Given the description of an element on the screen output the (x, y) to click on. 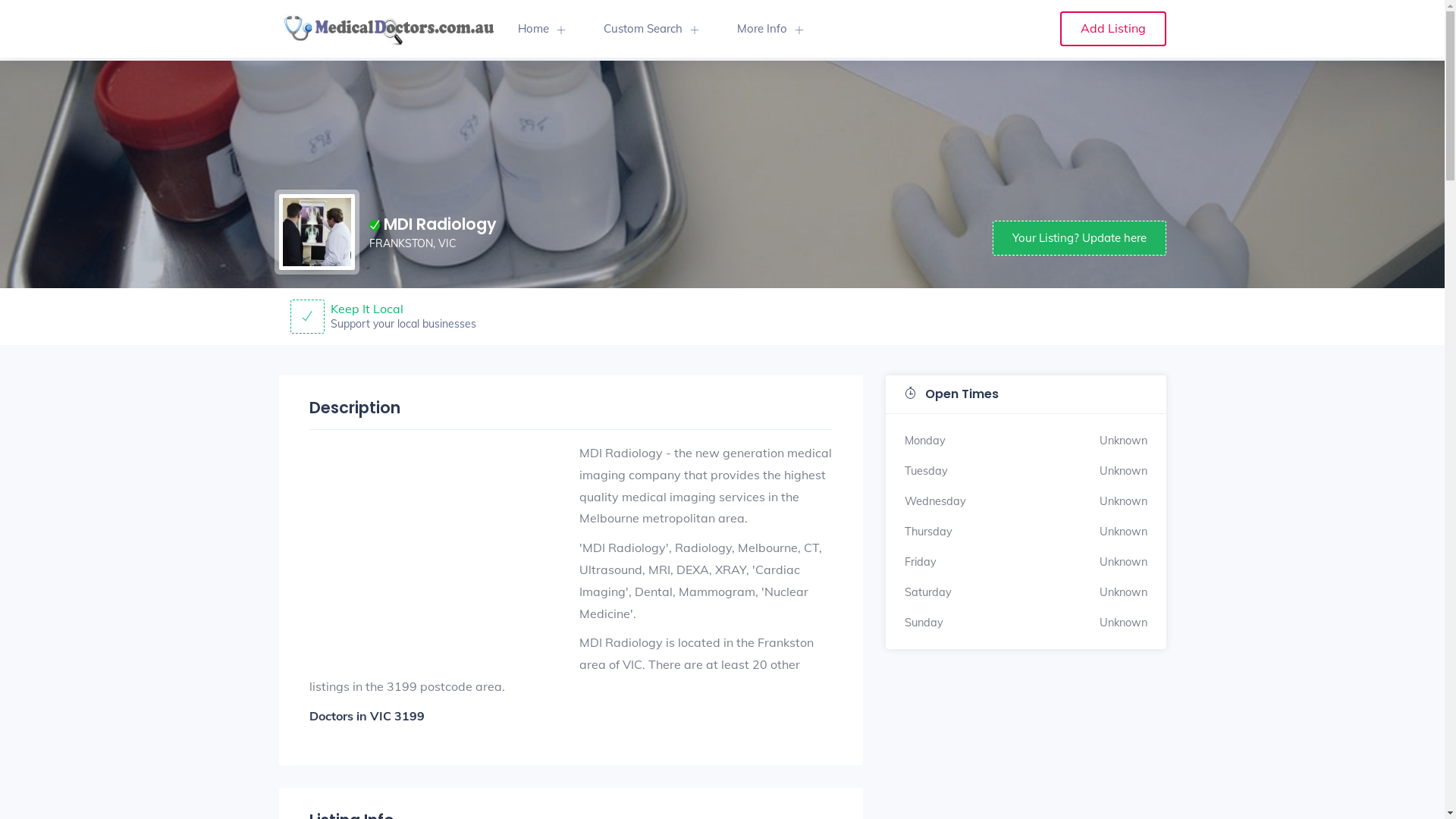
Custom Search Element type: text (650, 28)
More Info Element type: text (769, 28)
Home Element type: text (541, 28)
Add Listing Element type: text (1113, 28)
Doctors in VIC 3199 Element type: text (366, 715)
Your Listing? Update here Element type: text (1078, 238)
Advertisement Element type: hover (436, 548)
